Given the description of an element on the screen output the (x, y) to click on. 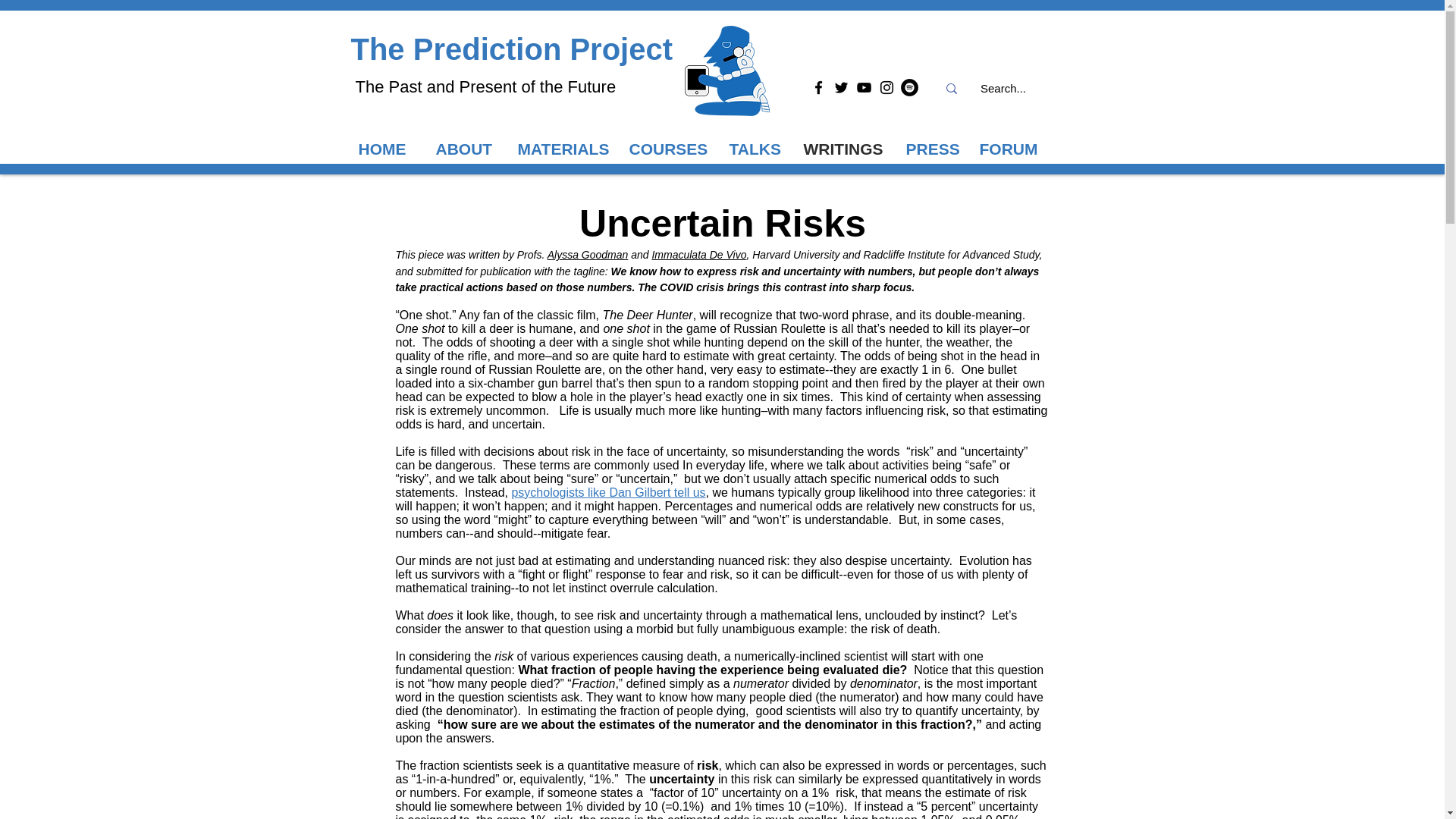
FORUM (1014, 148)
COURSES (671, 148)
TALKS (759, 148)
The Prediction Project (511, 49)
Immaculata De Vivo (697, 254)
HOME (389, 148)
The Past and Present of the Future (485, 86)
PRESS (934, 148)
MATERIALS (565, 148)
psychologists like Dan Gilbert tell us (607, 491)
